Given the description of an element on the screen output the (x, y) to click on. 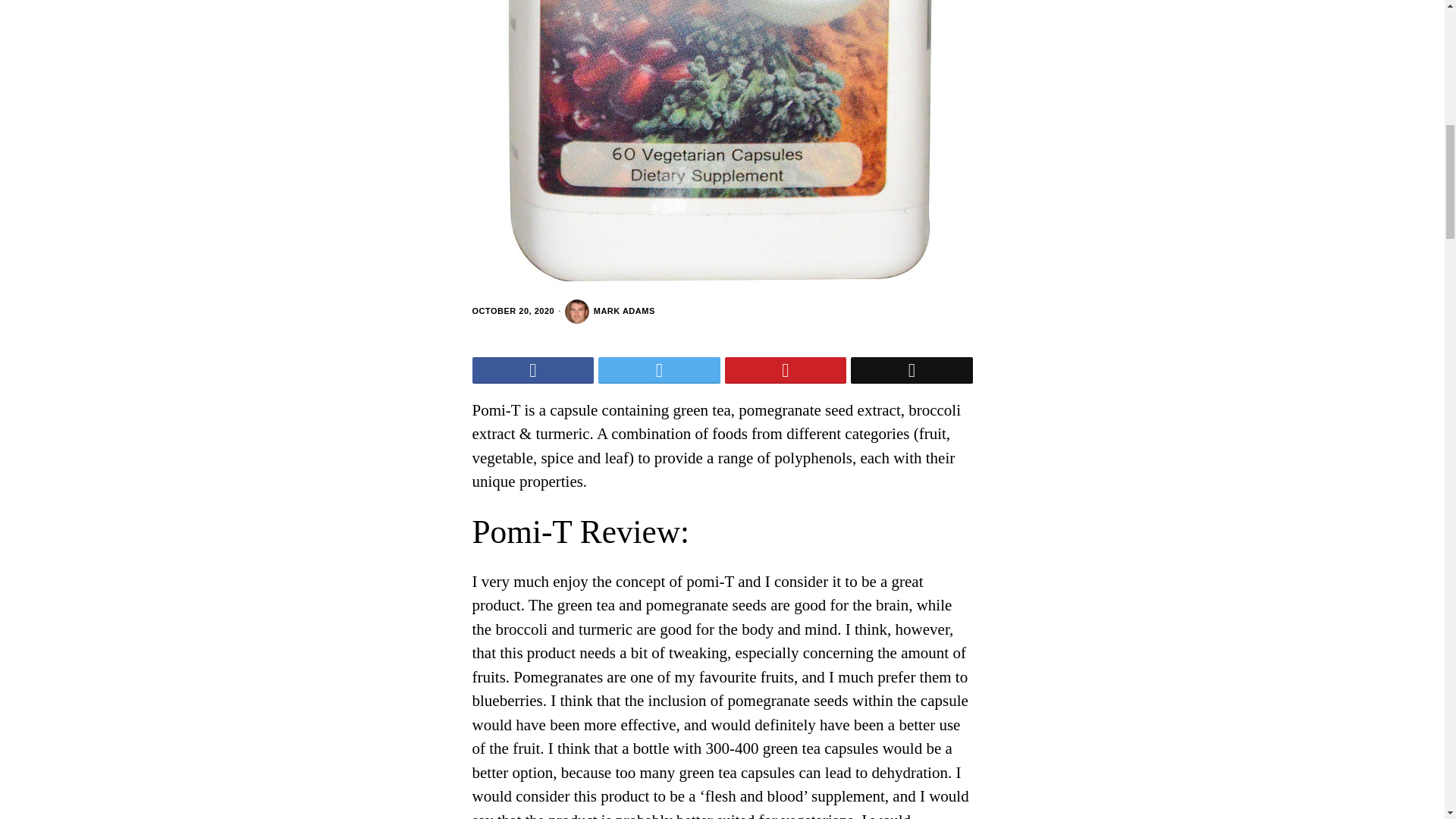
20 Oct, 2020 03:35:06 (512, 310)
MARK ADAMS (609, 311)
